Given the description of an element on the screen output the (x, y) to click on. 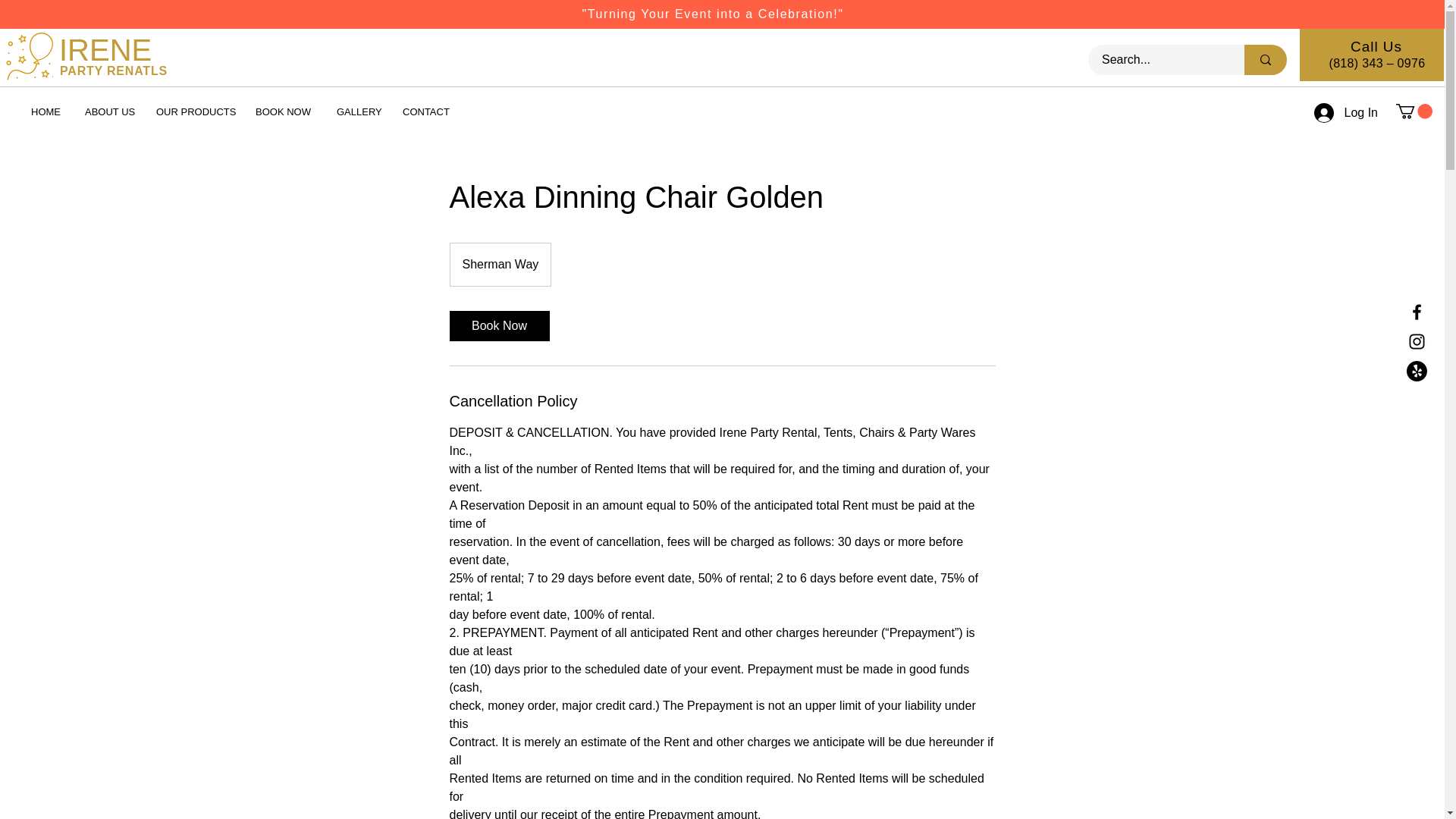
Book Now (498, 326)
"Turning Your Event into a Celebration!" (711, 13)
CONTACT (425, 111)
OUR PRODUCTS (194, 111)
HOME (47, 111)
GALLERY (357, 111)
ABOUT US (109, 111)
IRENE (105, 49)
PARTY RENATLS (113, 70)
BOOK NOW (284, 111)
Log In (1346, 112)
